Given the description of an element on the screen output the (x, y) to click on. 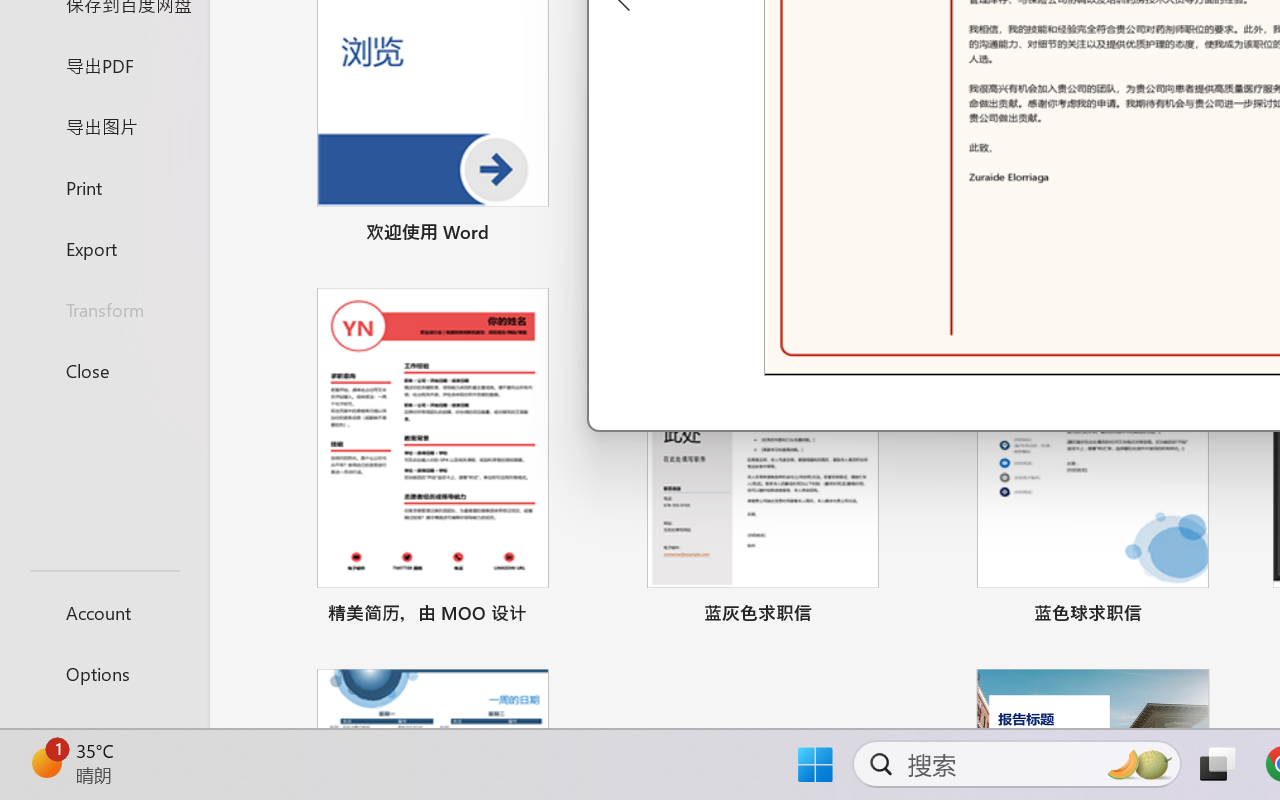
Export (104, 248)
Print (104, 186)
Options (104, 673)
Account (104, 612)
Transform (104, 309)
